Given the description of an element on the screen output the (x, y) to click on. 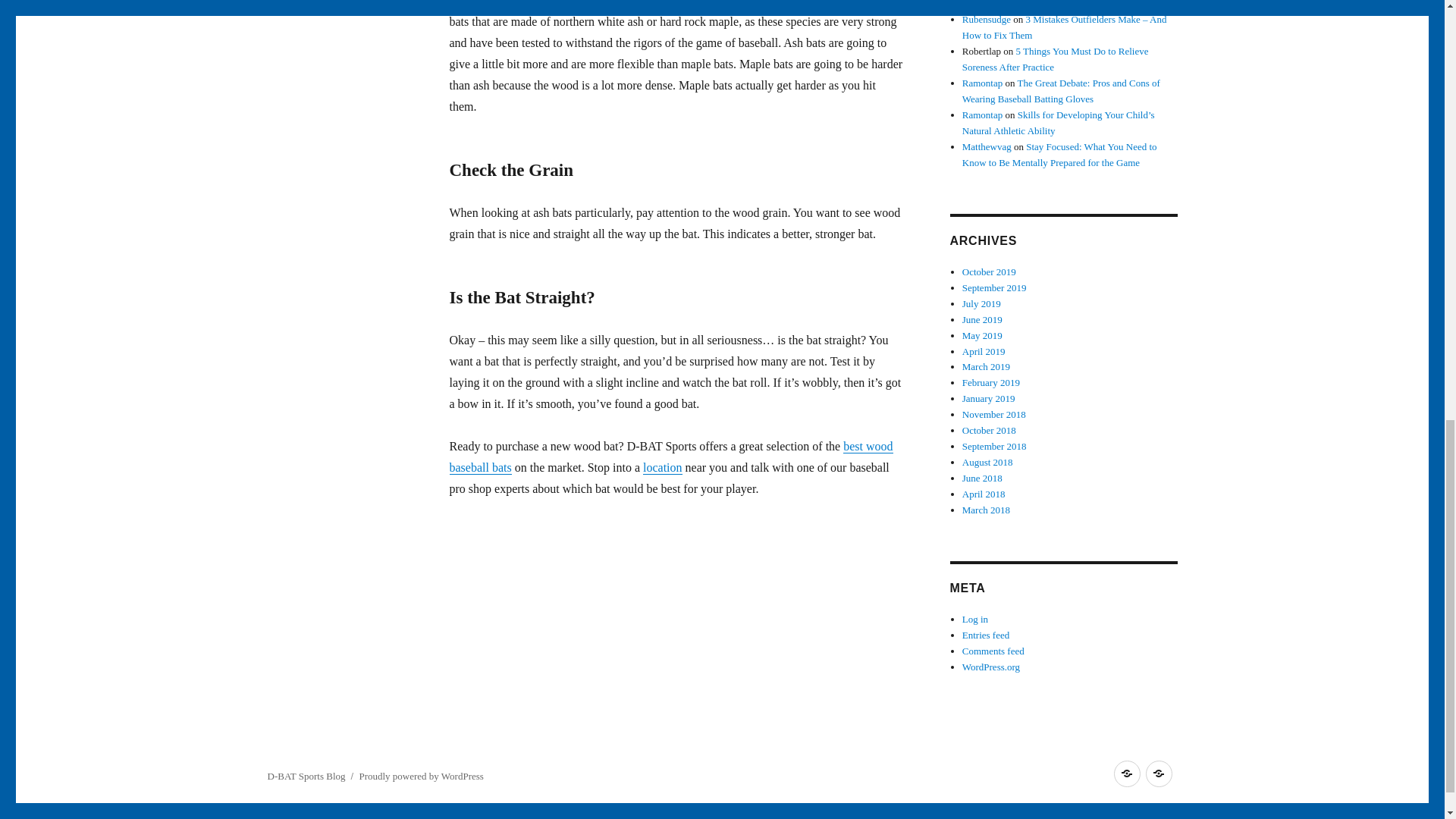
location (662, 467)
September 2019 (994, 287)
5 Things You Must Do to Relieve Soreness After Practice (1055, 58)
Ramontap (982, 114)
October 2019 (989, 271)
June 2019 (982, 319)
Rubensudge (986, 19)
Matthewvag (986, 146)
Ramontap (982, 82)
July 2019 (981, 303)
best wood baseball bats (670, 456)
